Given the description of an element on the screen output the (x, y) to click on. 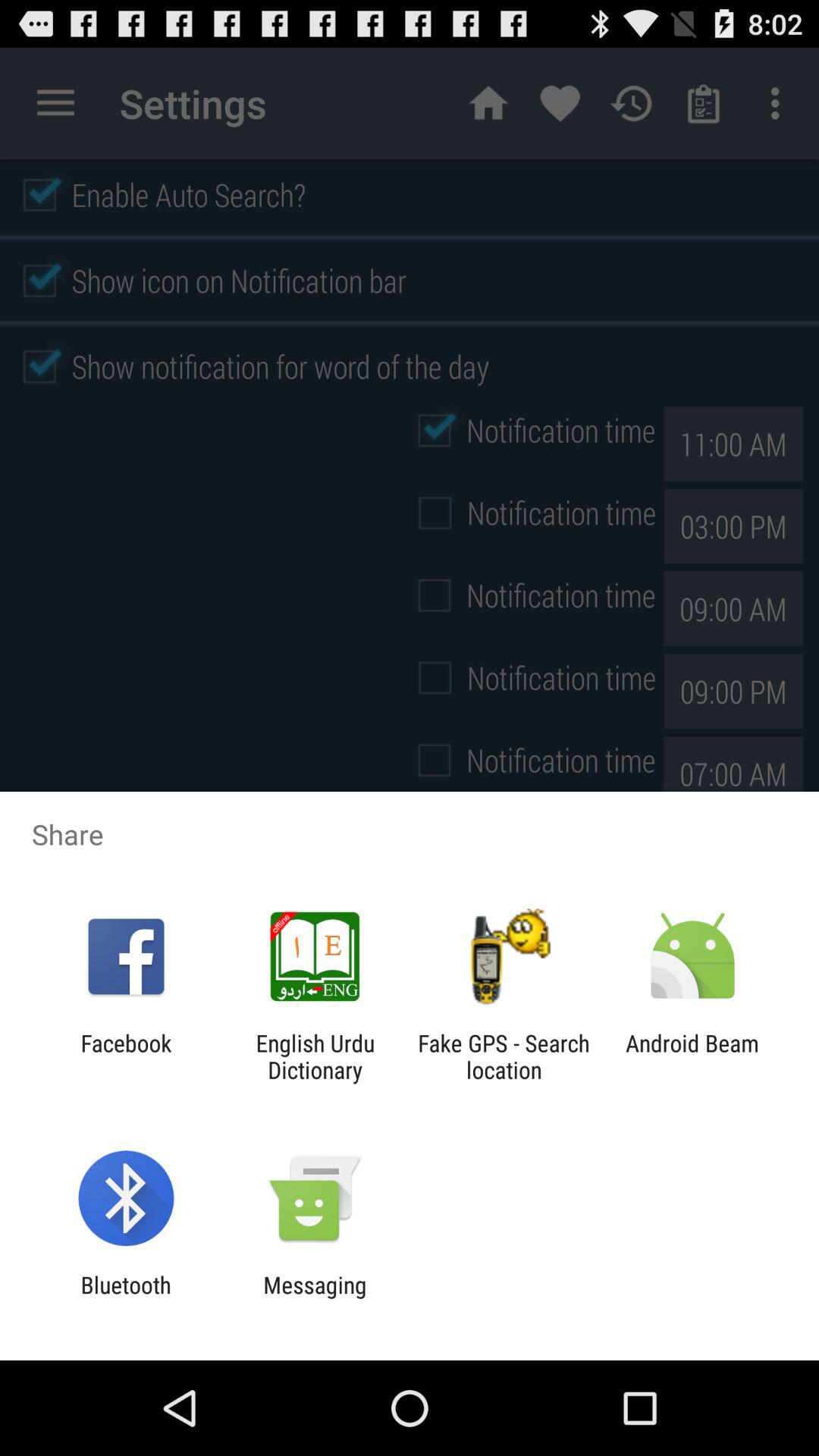
turn off item next to messaging item (125, 1298)
